Given the description of an element on the screen output the (x, y) to click on. 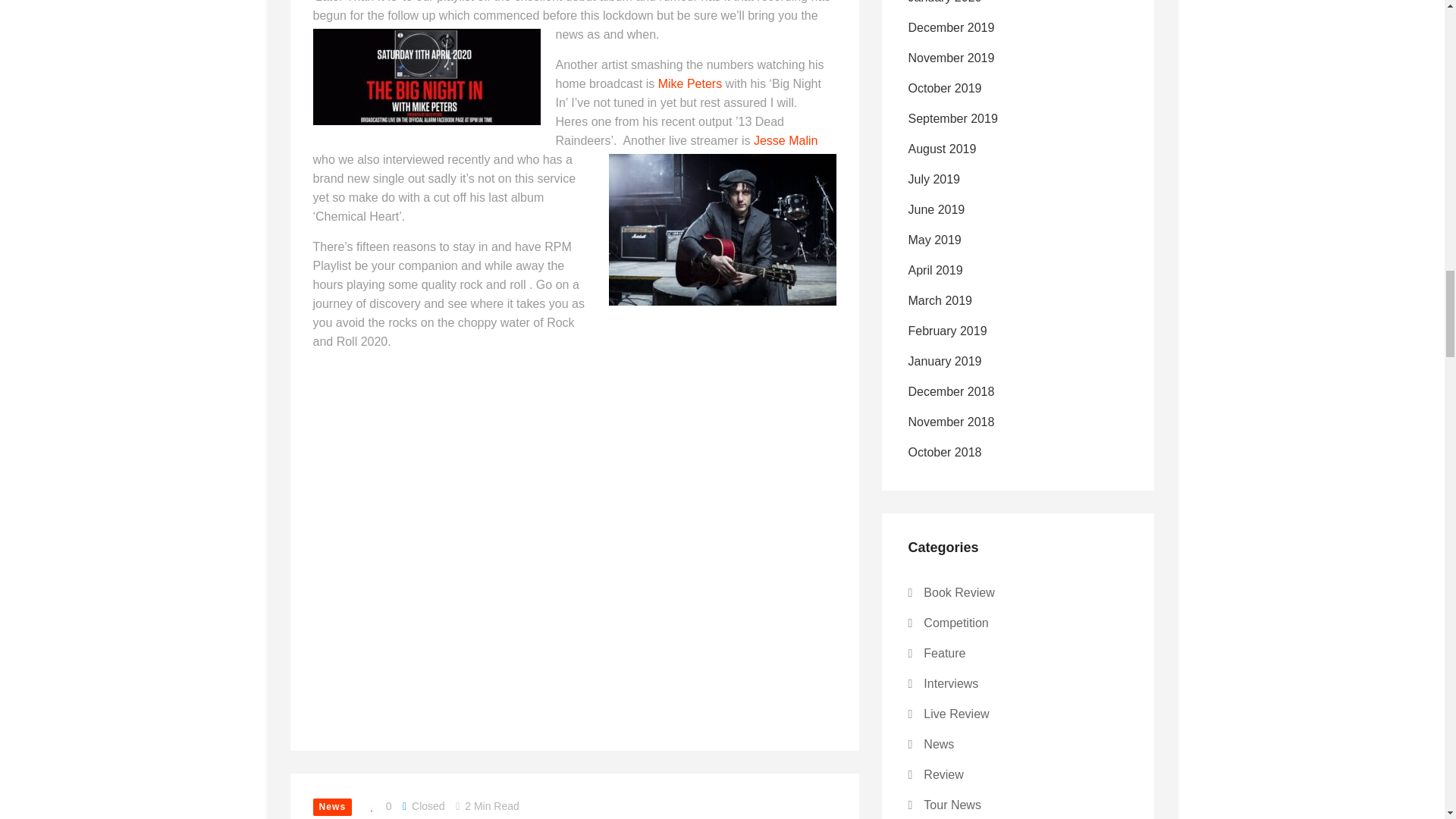
Like this (376, 805)
